Given the description of an element on the screen output the (x, y) to click on. 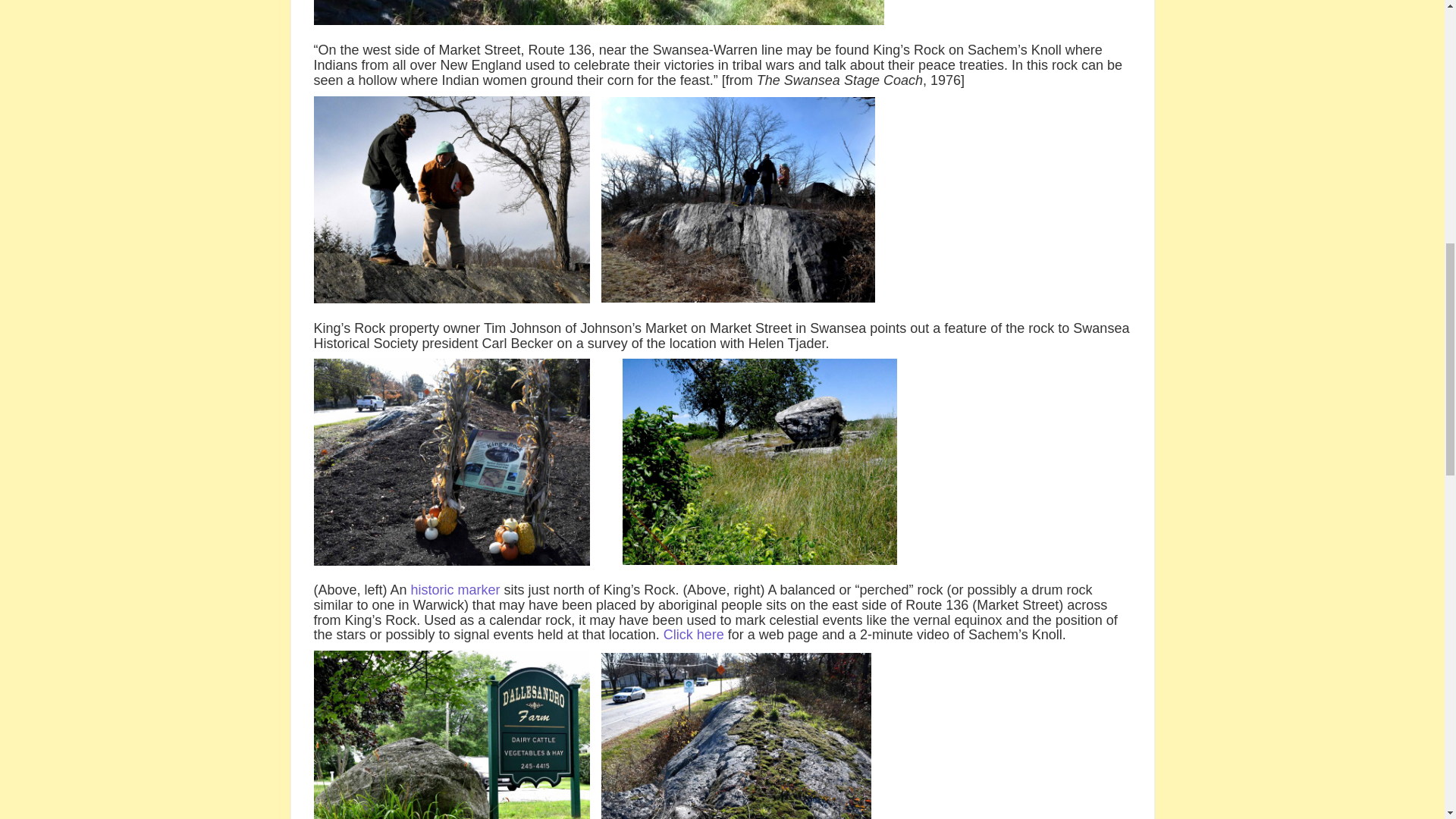
historic marker (455, 589)
Click here (693, 634)
